Given the description of an element on the screen output the (x, y) to click on. 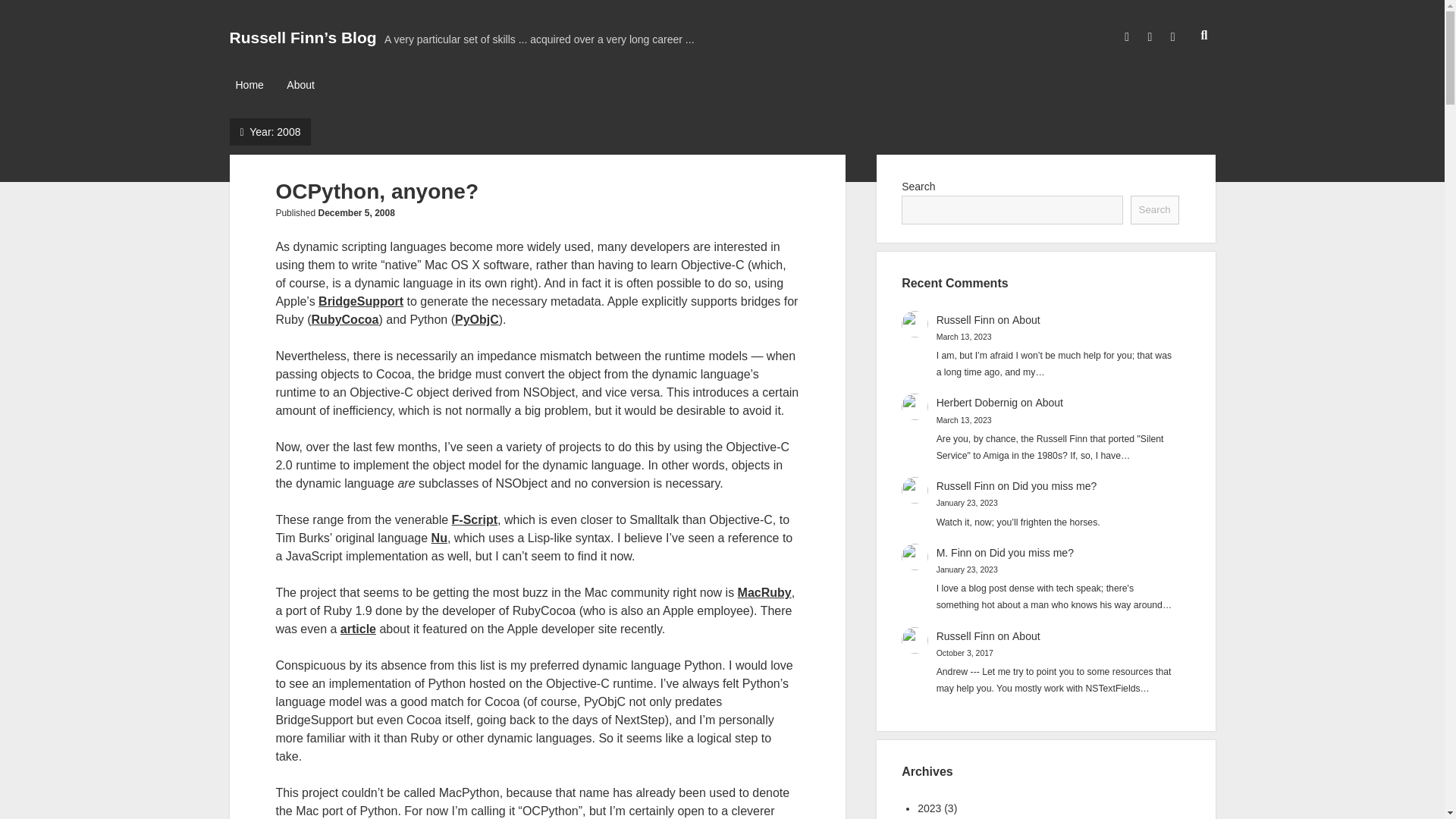
Nu (438, 537)
Home (248, 85)
article (357, 628)
December 5, 2008 (355, 213)
About (300, 85)
MacRuby (765, 592)
PyObjC (476, 318)
BridgeSupport (360, 300)
OCPython, anyone? (377, 191)
RubyCocoa (344, 318)
